Given the description of an element on the screen output the (x, y) to click on. 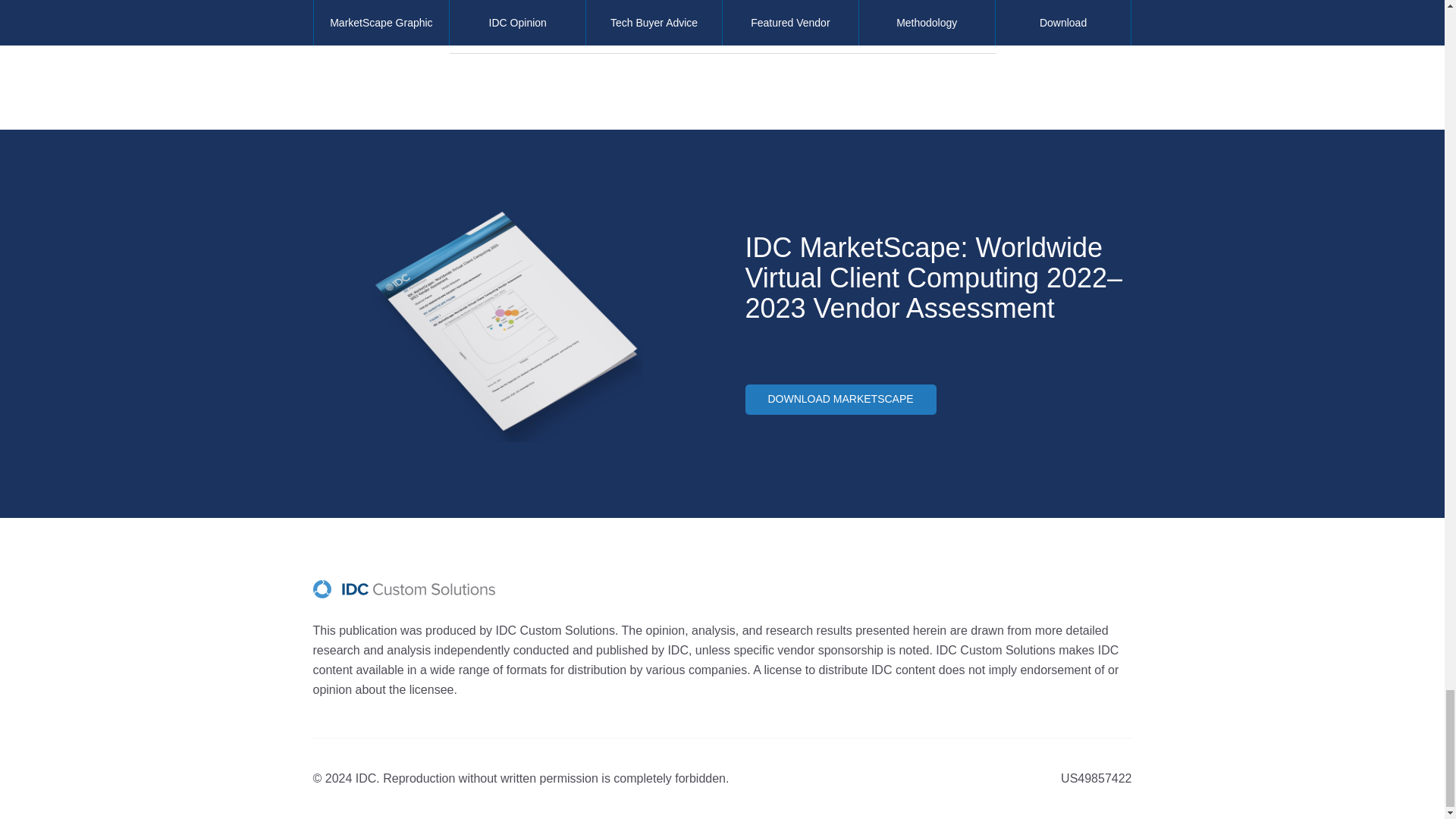
DOWNLOAD MARKETSCAPE (840, 399)
